Given the description of an element on the screen output the (x, y) to click on. 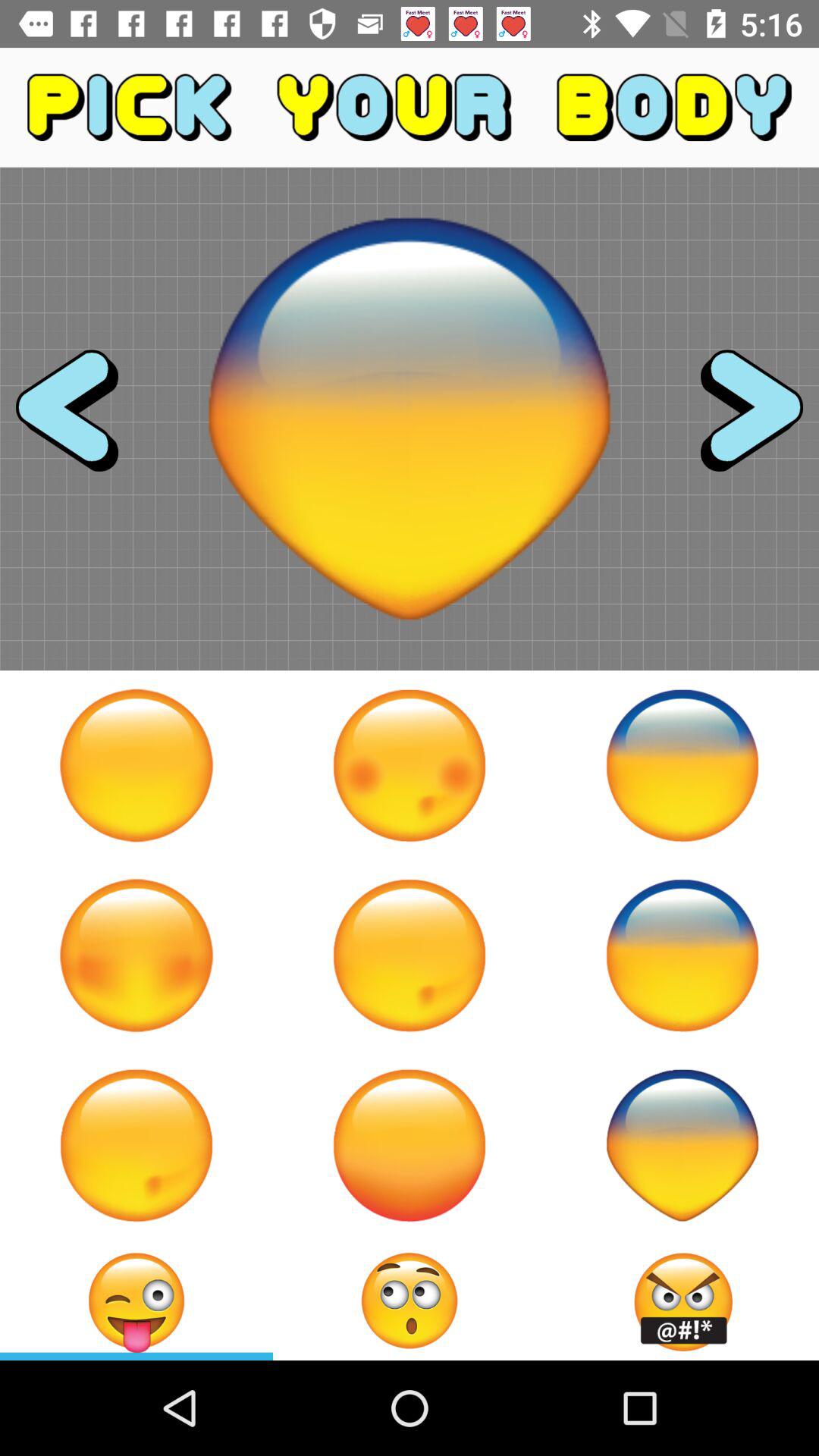
select emoji head shape (682, 1145)
